Given the description of an element on the screen output the (x, y) to click on. 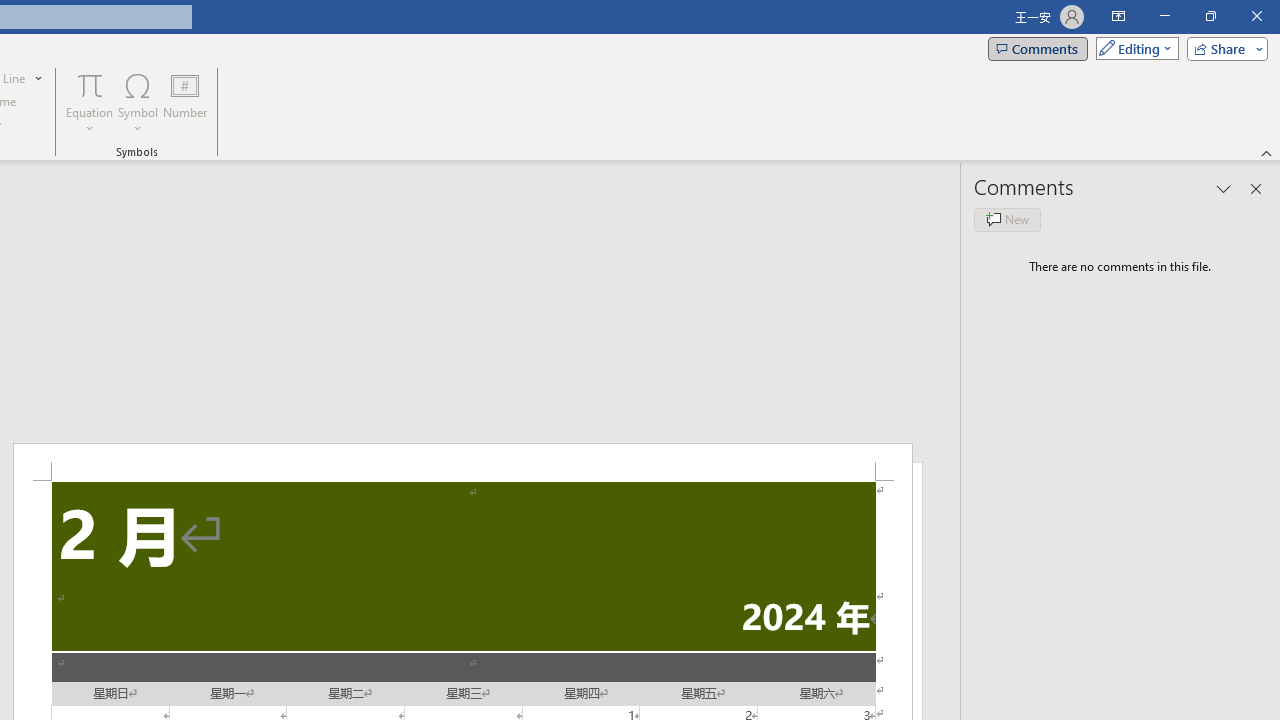
Number... (185, 102)
Equation (90, 84)
Minimize (1164, 16)
New comment (1007, 219)
